Given the description of an element on the screen output the (x, y) to click on. 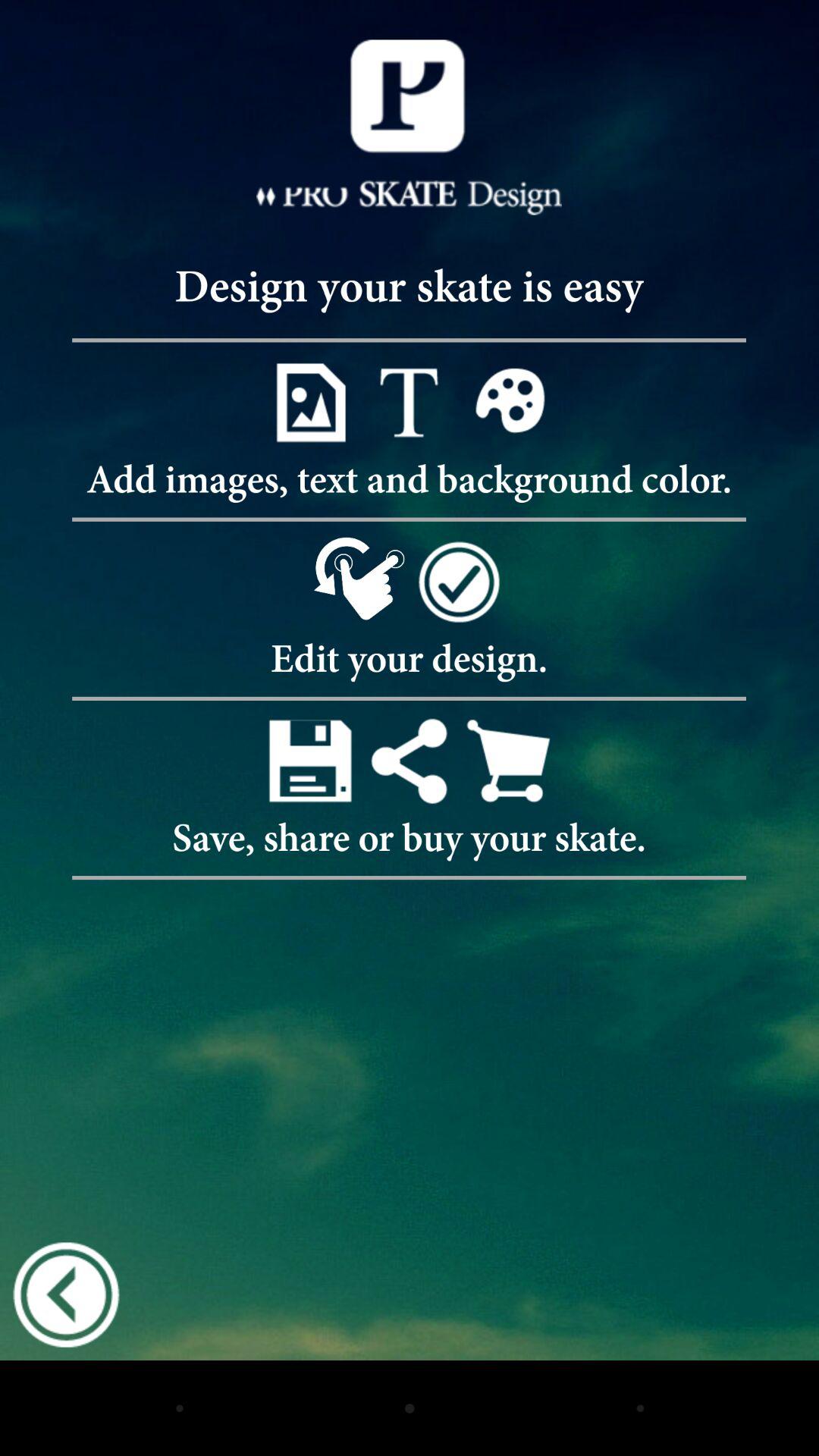
go to your shopping cart and purchase (508, 760)
